Given the description of an element on the screen output the (x, y) to click on. 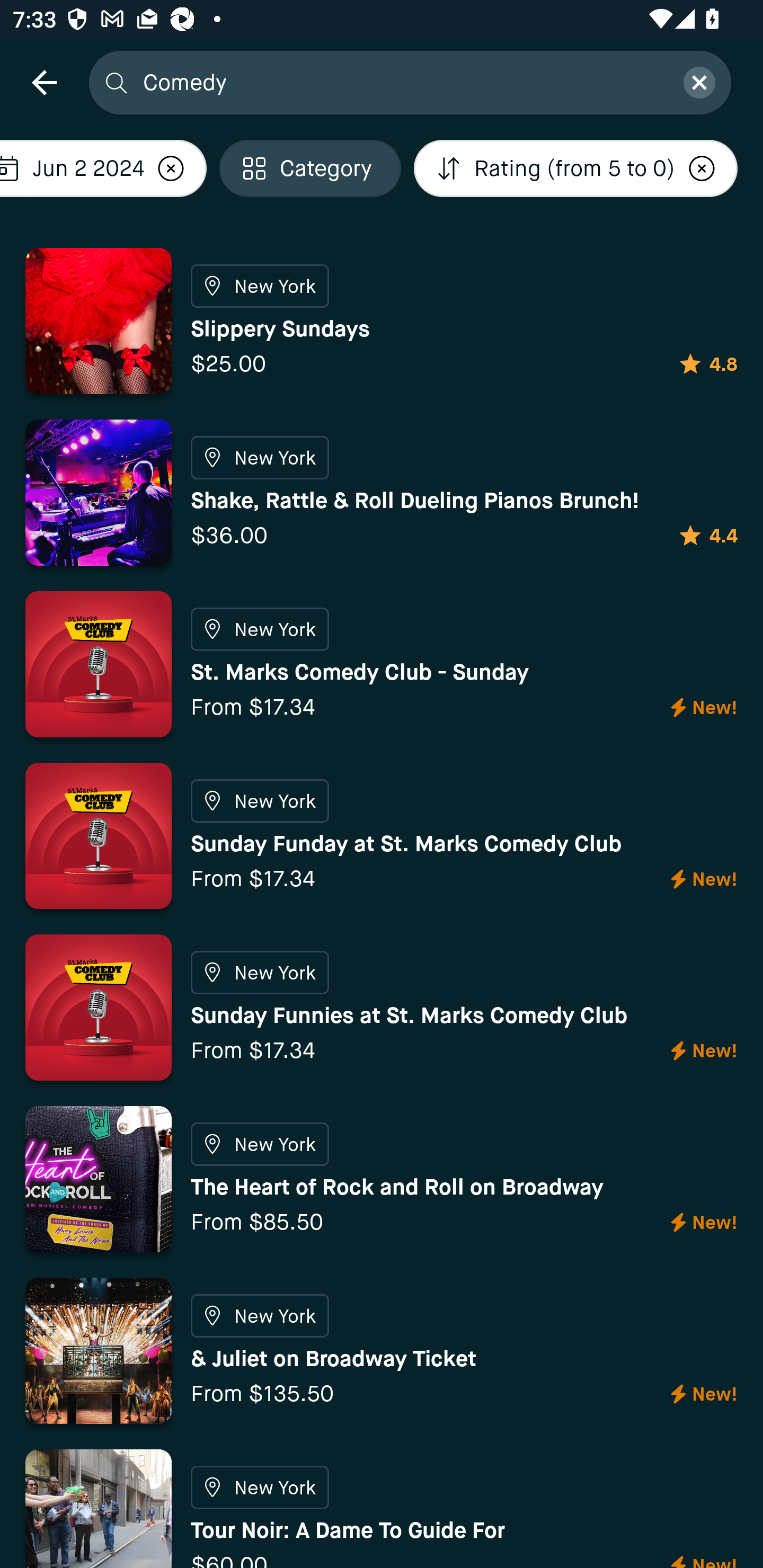
navigation icon (44, 81)
Comedy (402, 81)
Localized description (170, 168)
Localized description Category (310, 168)
Localized description (701, 168)
